Given the description of an element on the screen output the (x, y) to click on. 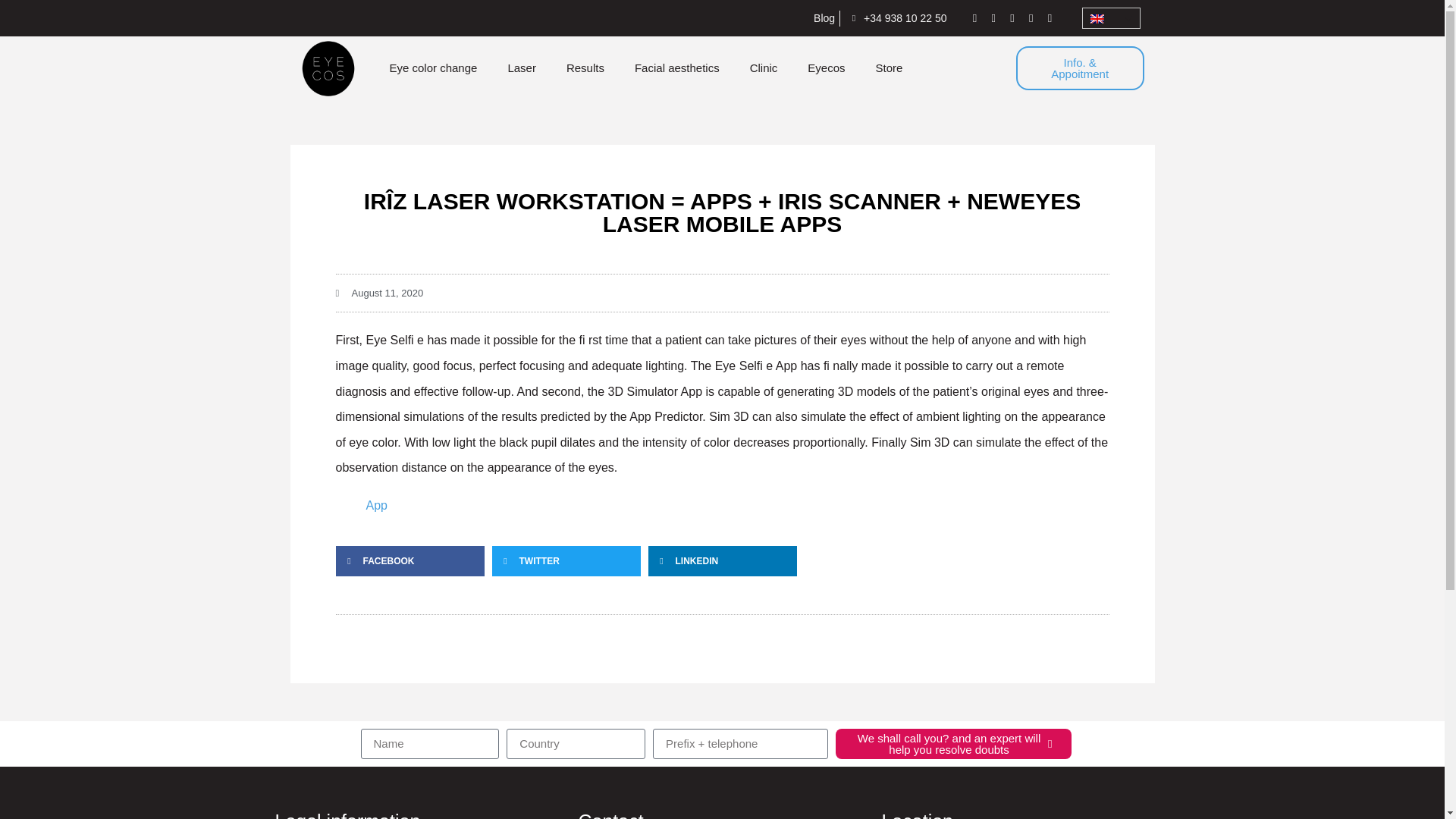
Laser (521, 67)
Store (889, 67)
Blog (819, 18)
Results (585, 67)
Eyecos (826, 67)
Facial aesthetics (677, 67)
Eye color change (433, 67)
Clinic (764, 67)
